Given the description of an element on the screen output the (x, y) to click on. 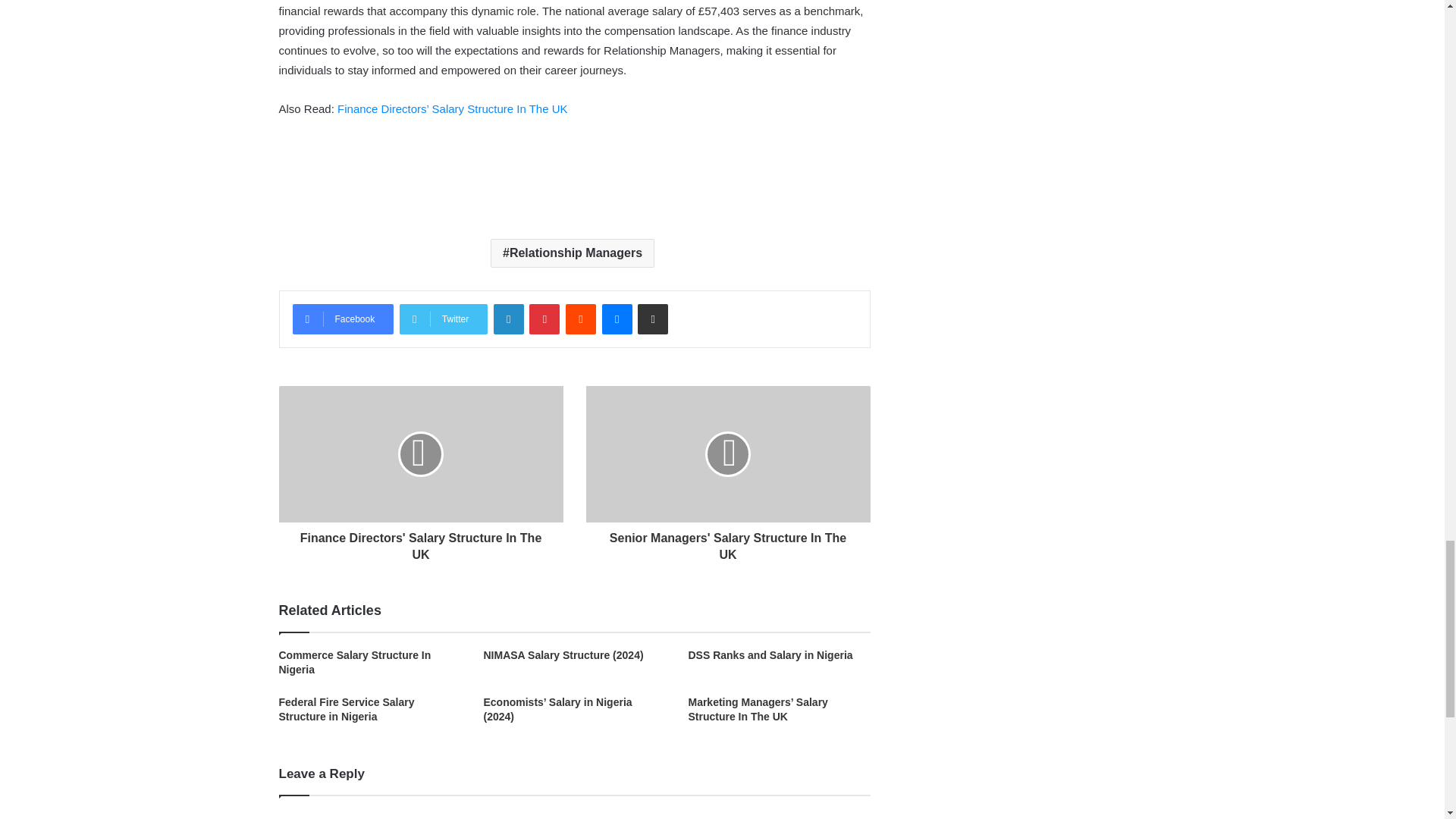
Share via Email (652, 318)
Relationship Managers (571, 253)
Pinterest (544, 318)
LinkedIn (508, 318)
Facebook (343, 318)
Twitter (442, 318)
Messenger (616, 318)
Reddit (580, 318)
